Given the description of an element on the screen output the (x, y) to click on. 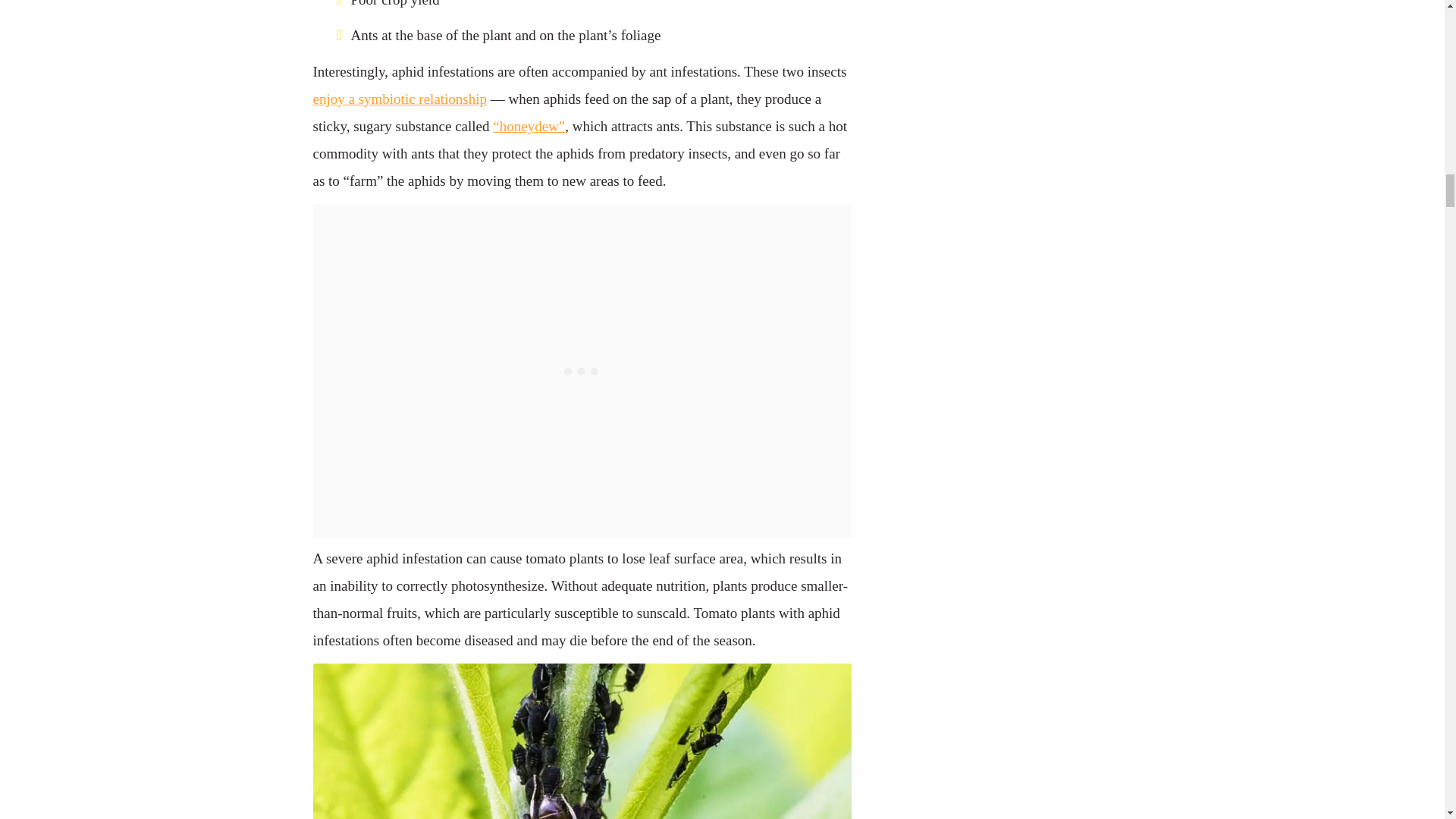
enjoy a symbiotic relationship (399, 98)
